Given the description of an element on the screen output the (x, y) to click on. 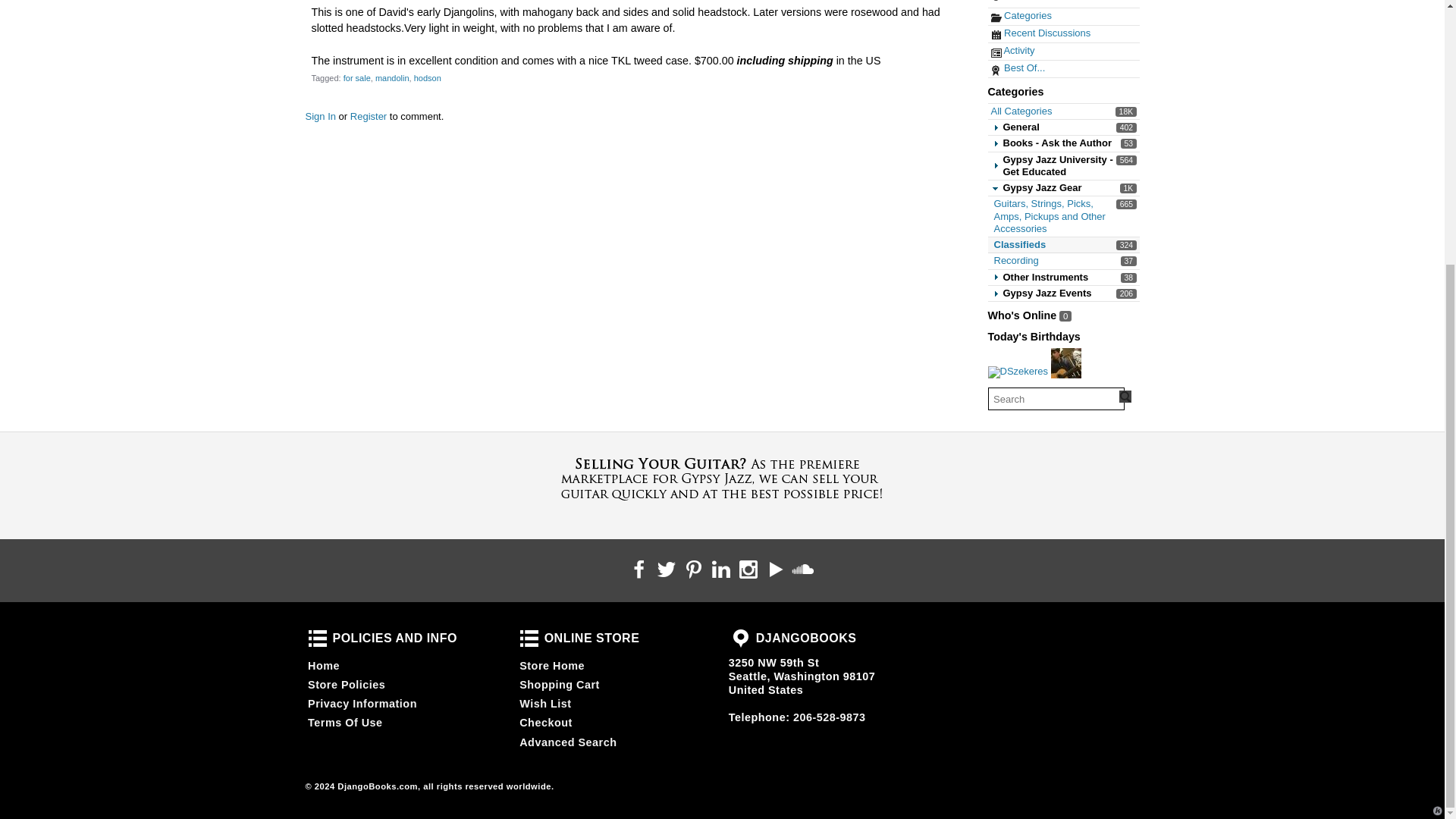
Best Of... (1017, 67)
Go (1018, 244)
Activity (1125, 396)
Categories (1011, 50)
Recent Discussions (1020, 15)
53 discussions (1040, 32)
18,005 discussions (1015, 260)
402 discussions (1129, 143)
564 discussions (1126, 111)
